Given the description of an element on the screen output the (x, y) to click on. 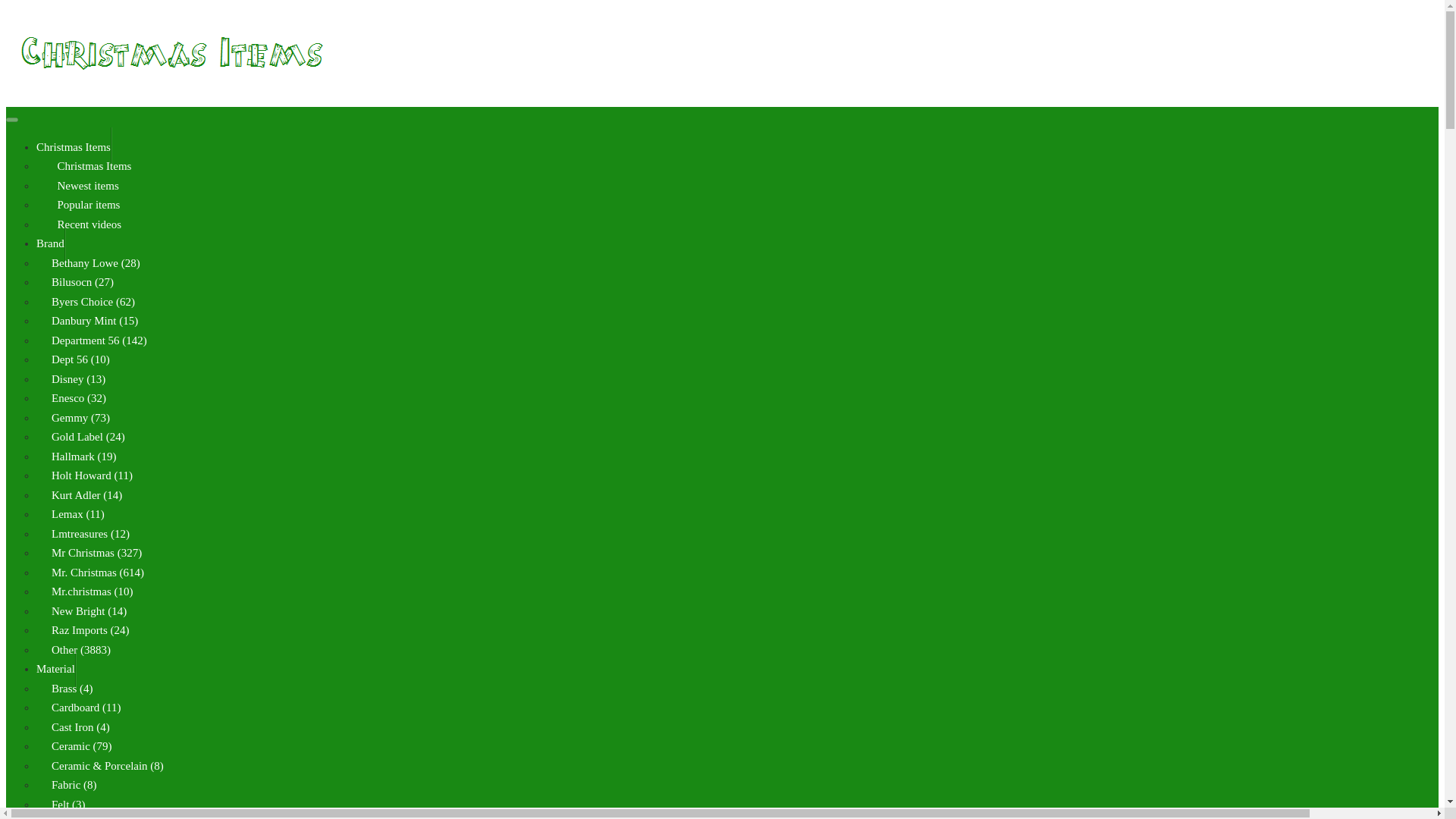
Christmas Items (74, 147)
  Recent videos (86, 224)
  Newest items (84, 185)
  Popular items (85, 204)
Material (55, 668)
  Christmas Items (91, 165)
